Given the description of an element on the screen output the (x, y) to click on. 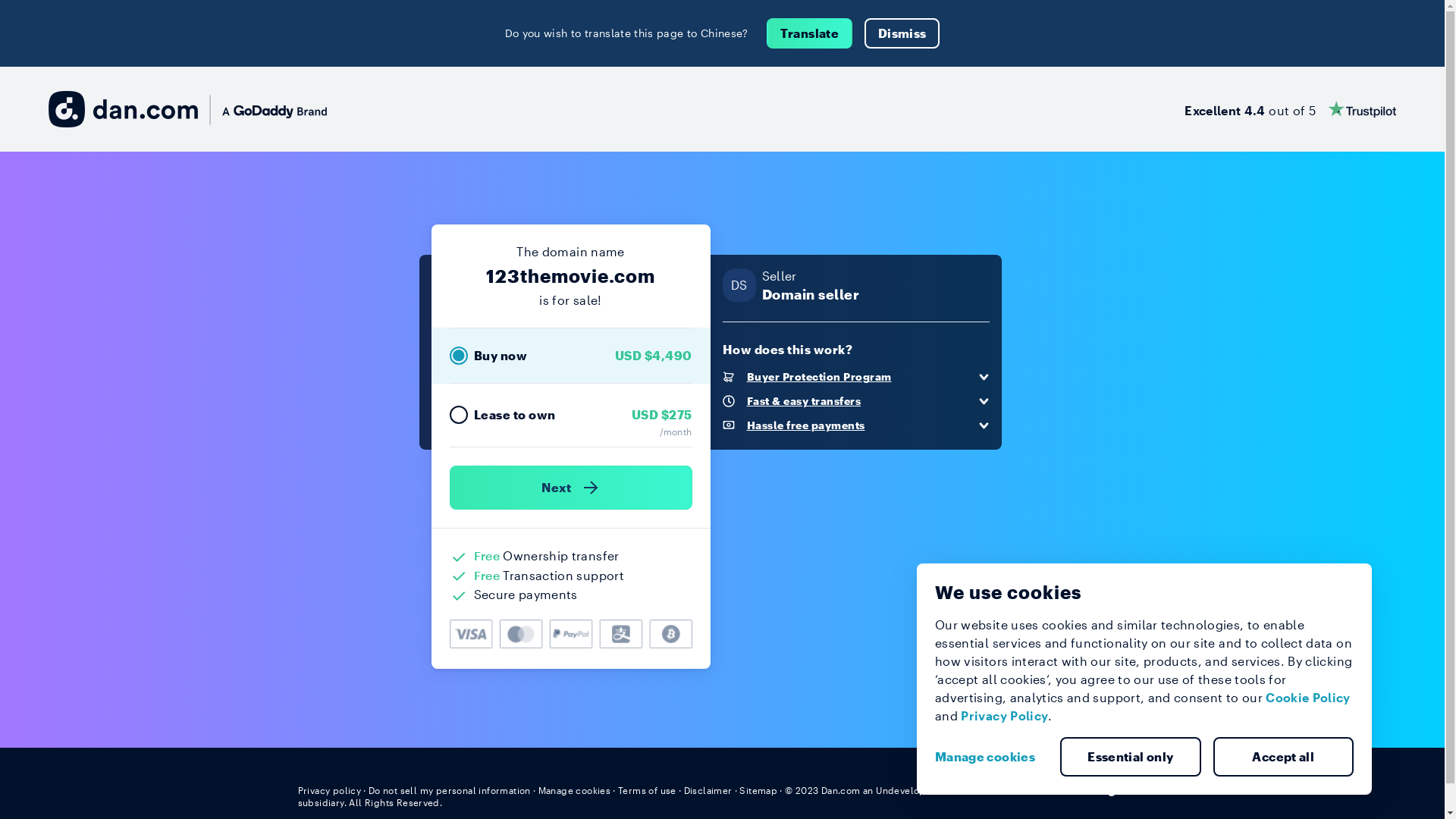
Do not sell my personal information Element type: text (449, 789)
Privacy Policy Element type: text (1004, 715)
Essential only Element type: text (1130, 756)
Accept all Element type: text (1283, 756)
Privacy policy Element type: text (328, 789)
Terms of use Element type: text (647, 789)
Manage cookies Element type: text (574, 790)
Cookie Policy Element type: text (1307, 697)
Translate Element type: text (809, 33)
Sitemap Element type: text (758, 789)
Disclaimer Element type: text (708, 789)
Excellent 4.4 out of 5 Element type: text (1290, 109)
Dismiss Element type: text (901, 33)
English Element type: text (1119, 789)
Manage cookies Element type: text (991, 756)
Next
) Element type: text (569, 487)
